Given the description of an element on the screen output the (x, y) to click on. 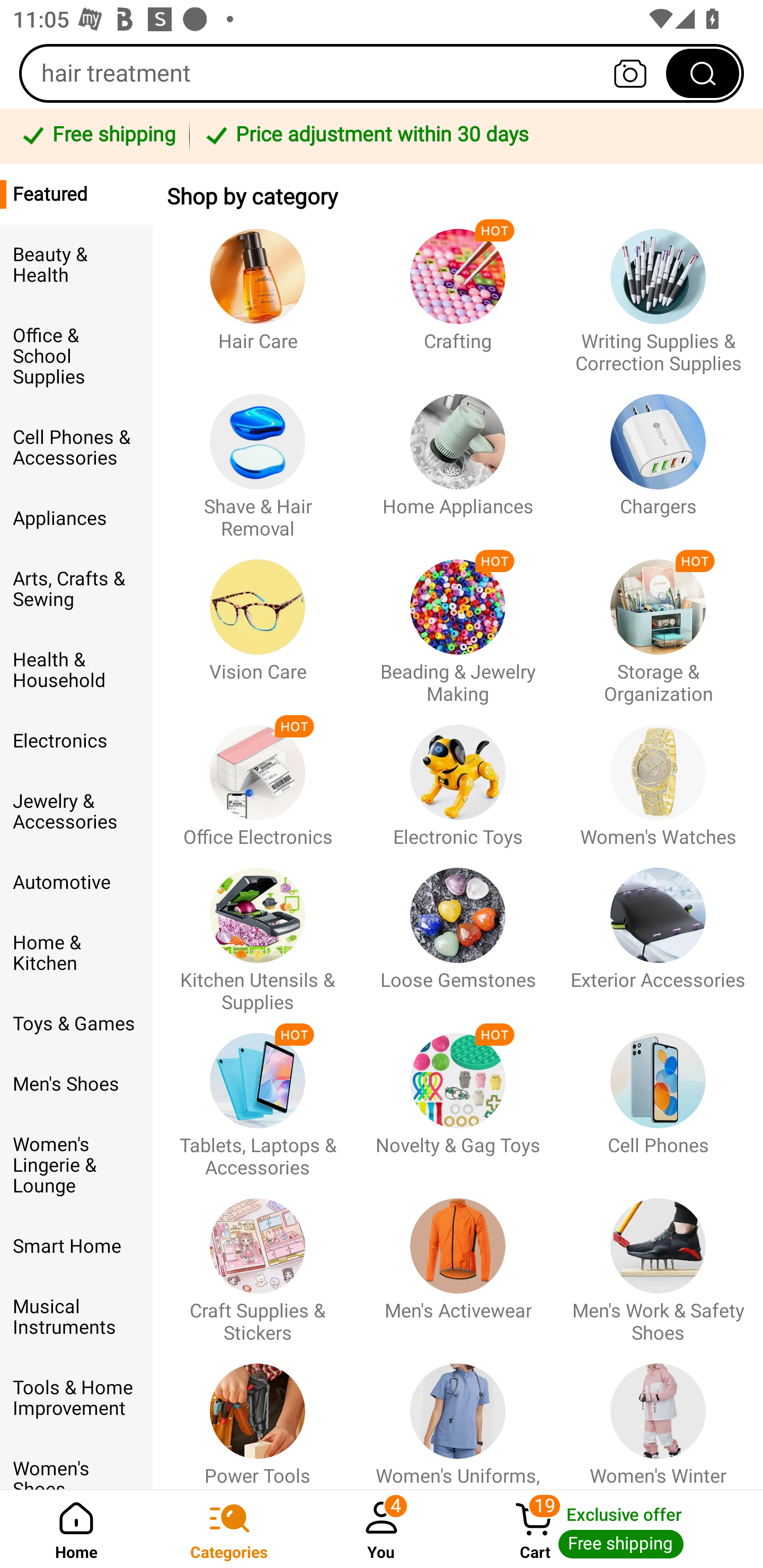
hair treatment (381, 73)
Free shipping (97, 136)
Price adjustment within 30 days (472, 136)
Featured (76, 194)
Hair Care (257, 292)
Crafting (457, 292)
Writing Supplies & Correction Supplies (657, 292)
Beauty & Health (76, 264)
Office & School Supplies (76, 356)
Shave & Hair Removal (257, 457)
Home Appliances (457, 457)
Chargers (657, 457)
Cell Phones & Accessories (76, 447)
Appliances (76, 517)
Vision Care (257, 622)
Beading & Jewelry Making (457, 622)
Storage & Organization (657, 622)
Arts, Crafts & Sewing (76, 589)
Health & Household (76, 670)
Office Electronics (257, 776)
Electronic Toys (457, 776)
Women's Watches (657, 776)
Electronics (76, 740)
Jewelry & Accessories (76, 811)
Kitchen Utensils & Supplies (257, 931)
Loose Gemstones (457, 931)
Exterior Accessories (657, 931)
Automotive (76, 882)
Home & Kitchen (76, 953)
Toys & Games (76, 1023)
Tablets, Laptops & Accessories (257, 1096)
Novelty & Gag Toys (457, 1096)
Cell Phones (657, 1096)
Men's Shoes (76, 1083)
Women's Lingerie & Lounge (76, 1165)
Craft Supplies & Stickers (257, 1261)
Men's Activewear (457, 1261)
Men's Work & Safety Shoes (657, 1261)
Smart Home (76, 1246)
Musical Instruments (76, 1316)
Power Tools (257, 1416)
Women's Uniforms, Work & Safety (457, 1416)
Women's Winter Sports Clothing (657, 1416)
Tools & Home Improvement (76, 1398)
Home (76, 1528)
Categories (228, 1528)
You 4 You (381, 1528)
Cart 19 Cart Exclusive offer (610, 1528)
